Given the description of an element on the screen output the (x, y) to click on. 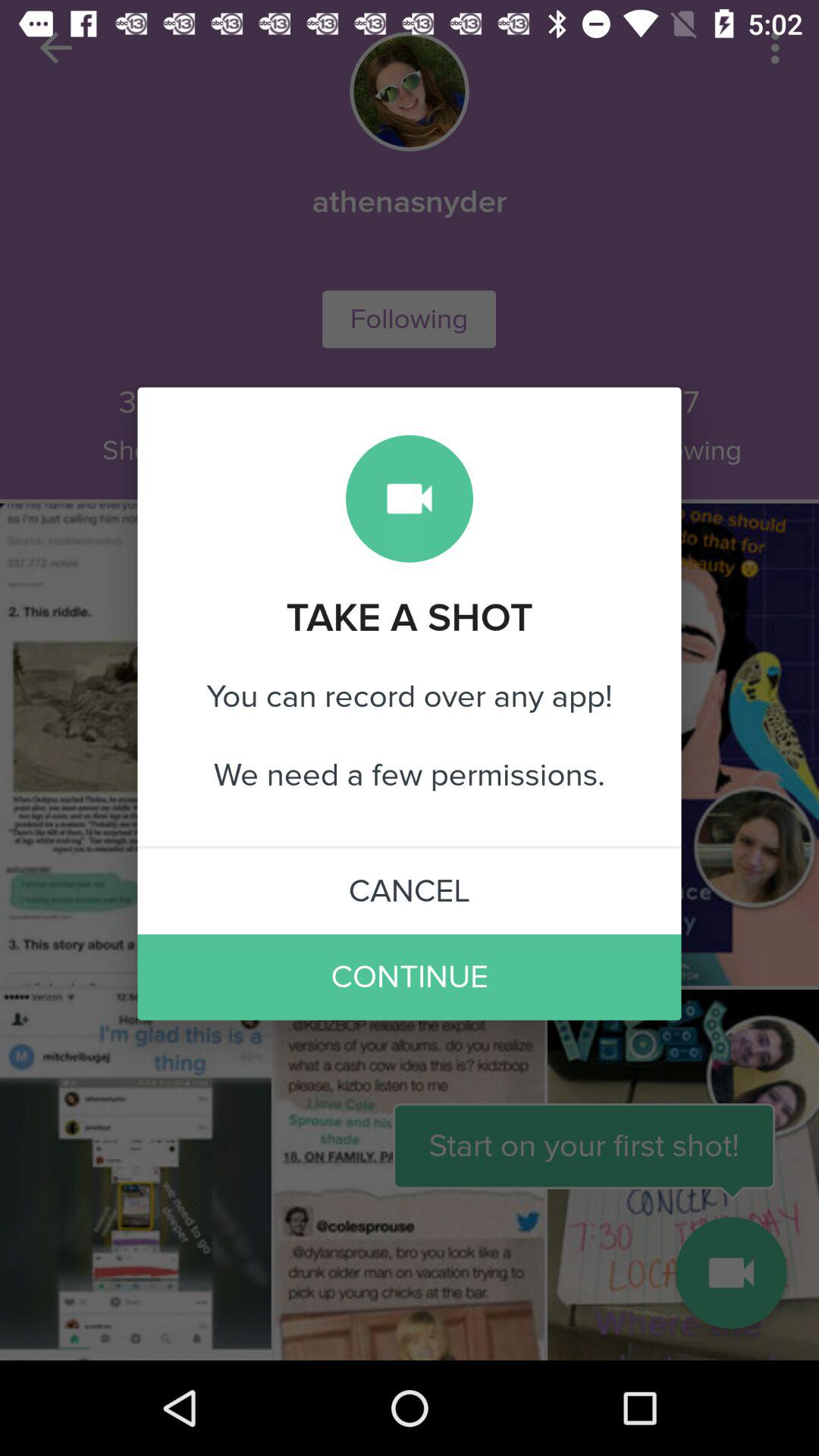
scroll to the continue icon (409, 977)
